Given the description of an element on the screen output the (x, y) to click on. 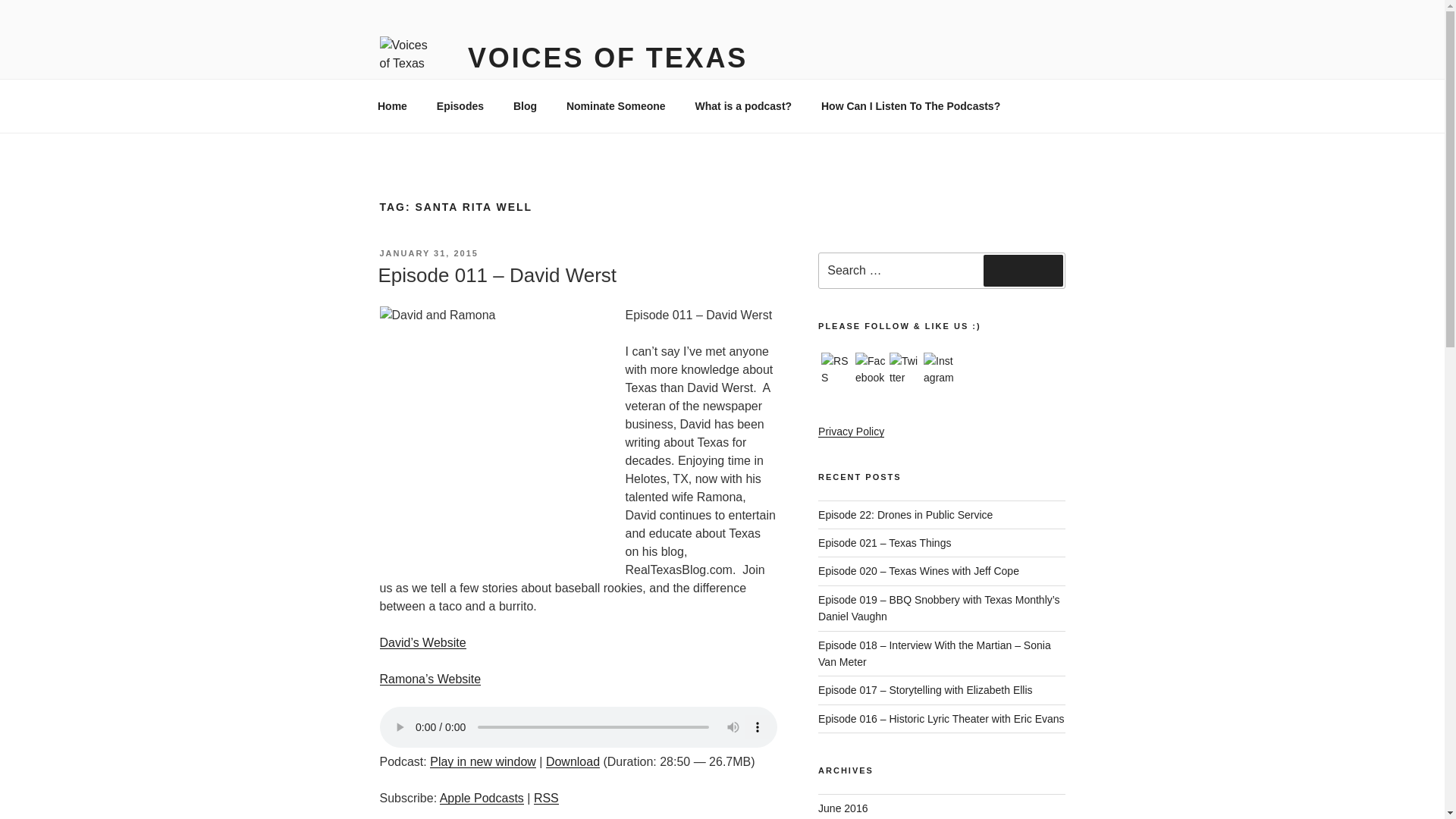
Home (392, 106)
Play in new window (482, 761)
Nominate Someone (615, 106)
Subscribe on Apple Podcasts (481, 797)
Apple Podcasts (481, 797)
Download (572, 761)
Play in new window (482, 761)
Episode 22: Drones in Public Service (905, 514)
RSS (836, 369)
Episodes (459, 106)
